Given the description of an element on the screen output the (x, y) to click on. 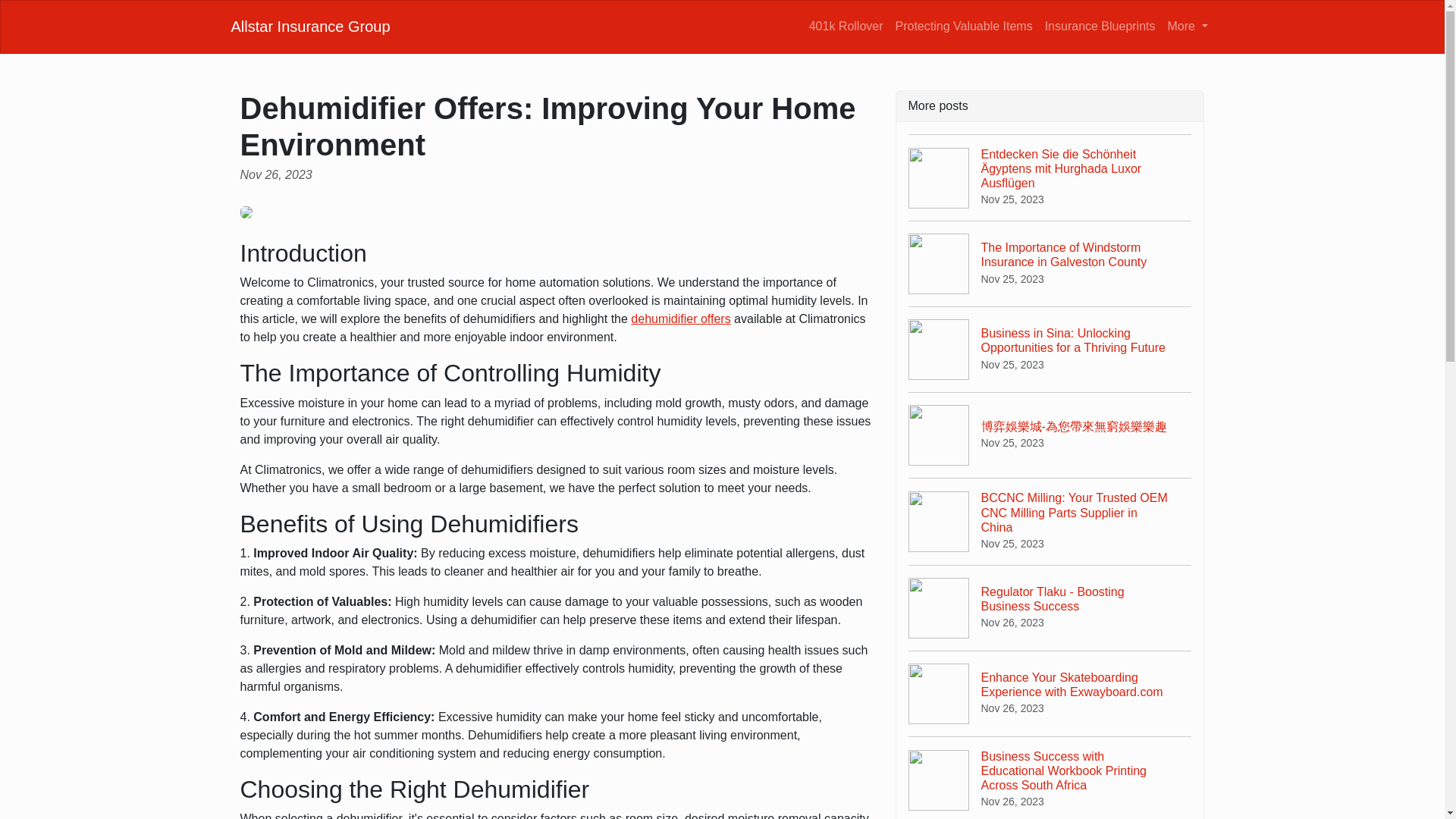
More (1187, 26)
Insurance Blueprints (1100, 26)
Protecting Valuable Items (964, 26)
401k Rollover (1050, 607)
dehumidifier offers (846, 26)
Allstar Insurance Group (680, 318)
